Given the description of an element on the screen output the (x, y) to click on. 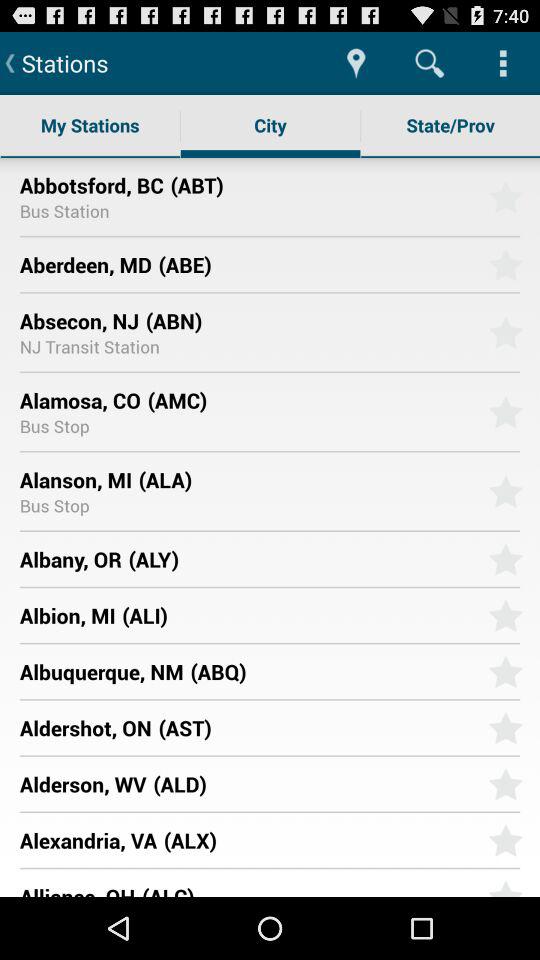
press icon next to (abe) (85, 264)
